Given the description of an element on the screen output the (x, y) to click on. 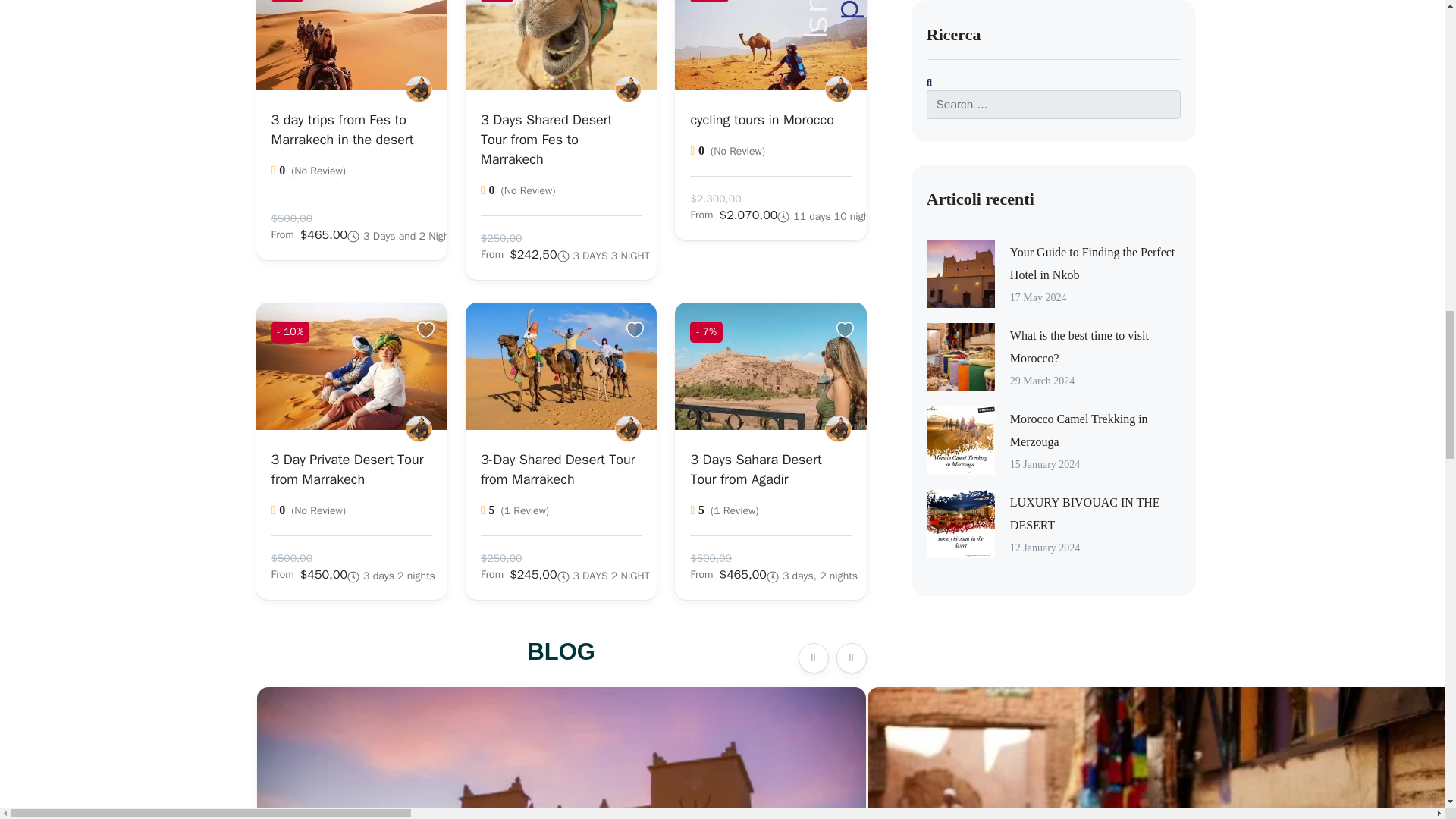
3 Day Private Desert Tour from Marrakech (346, 469)
Add to wishlist (847, 329)
3 day trips from Fes to Marrakech in the desert (341, 128)
Add to wishlist (427, 329)
Omar (628, 428)
3 Days Shared Desert Tour from Fes to Marrakech (545, 138)
3-Day Shared Desert Tour from Marrakech (557, 469)
Omar (838, 89)
Add to wishlist (637, 0)
Omar (419, 428)
